Given the description of an element on the screen output the (x, y) to click on. 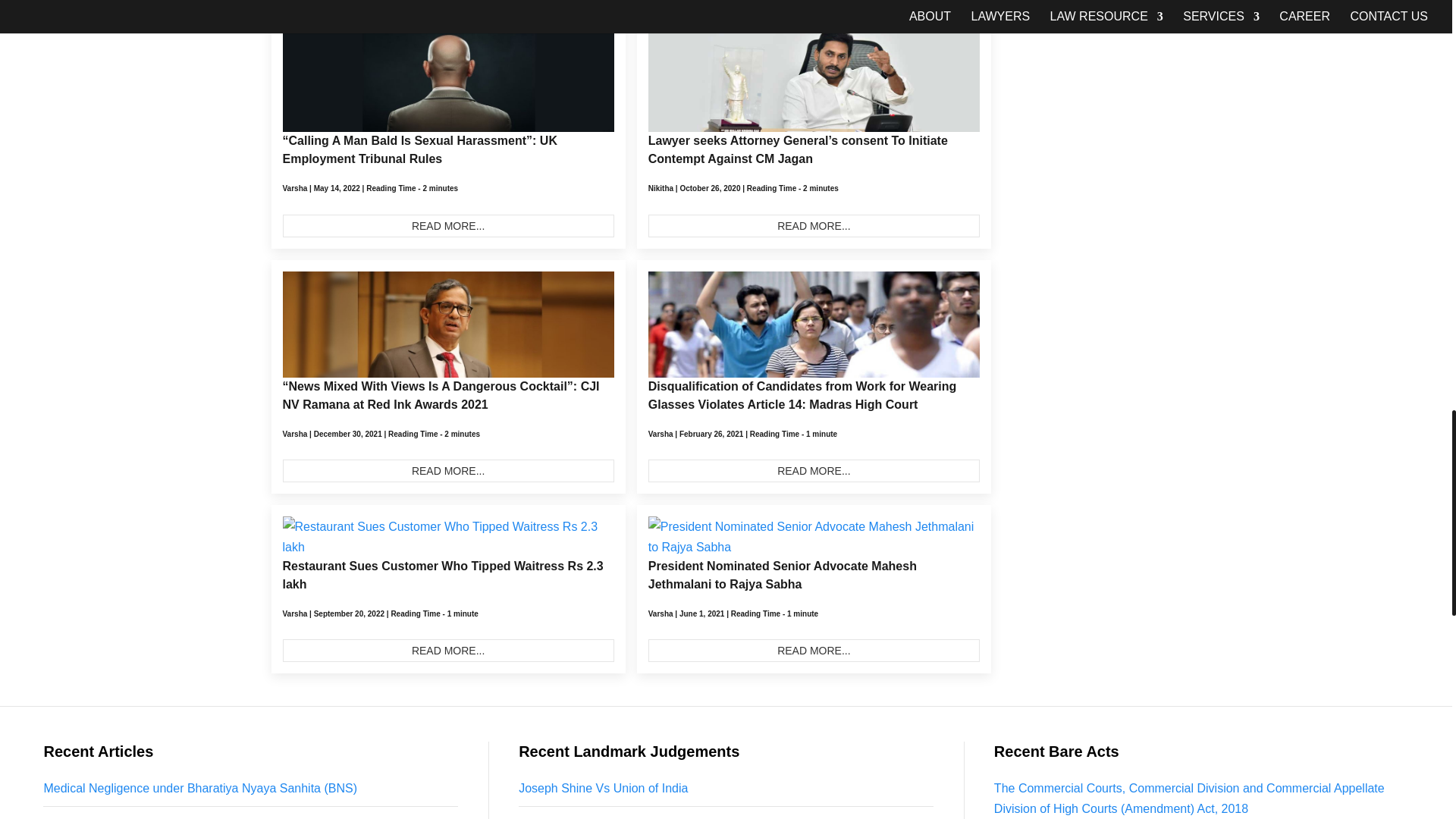
READ MORE... (813, 470)
READ MORE... (447, 225)
Restaurant Sues Customer Who Tipped Waitress Rs 2.3 lakh (442, 574)
READ MORE... (813, 225)
Restaurant Sues Customer Who Tipped Waitress Rs 2.3 lakh (447, 650)
READ MORE... (447, 470)
